Given the description of an element on the screen output the (x, y) to click on. 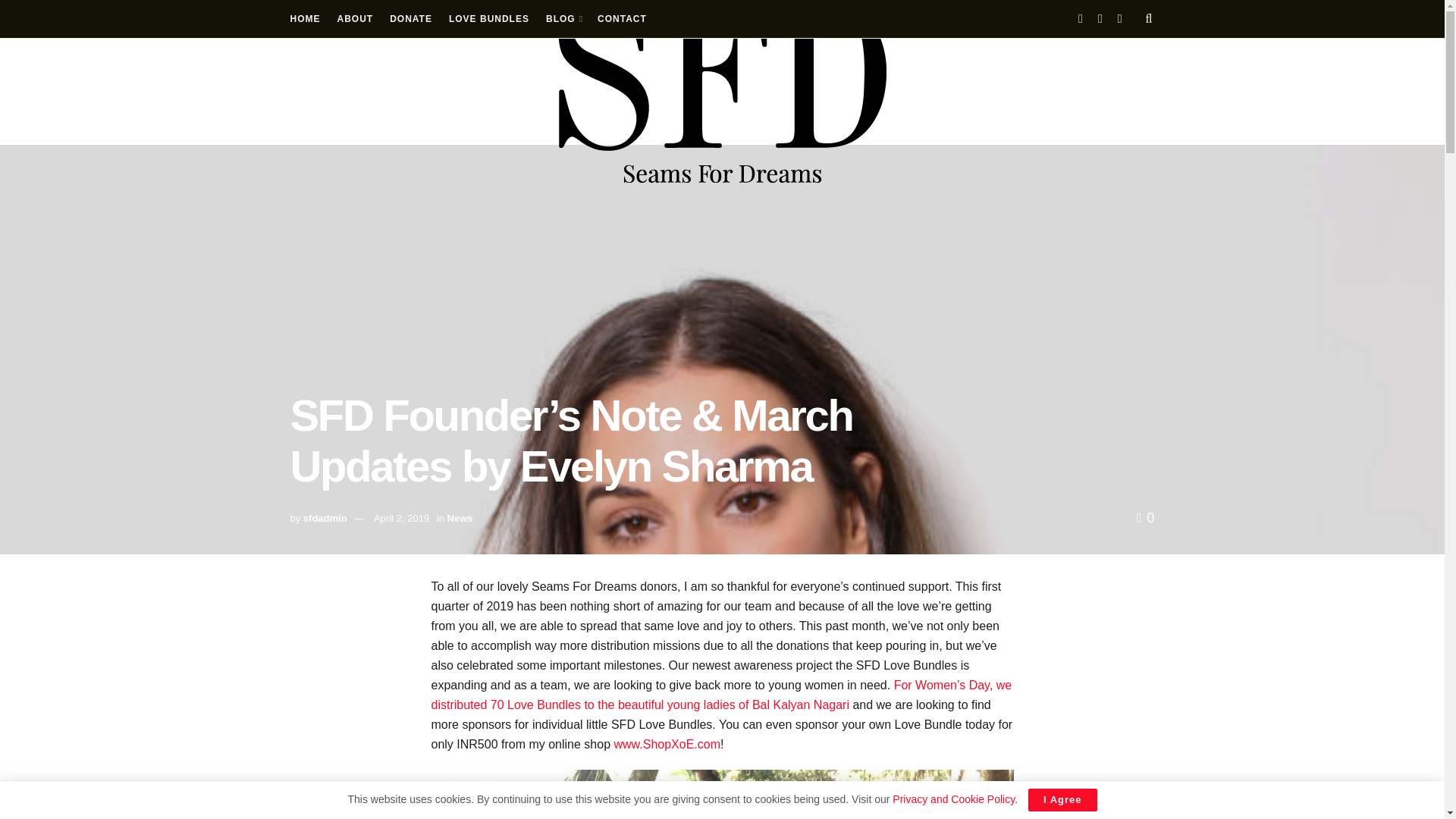
BLOG (563, 18)
DONATE (411, 18)
0 (1145, 517)
LOVE BUNDLES (488, 18)
CONTACT (621, 18)
News (459, 518)
www.ShopXoE.com (667, 744)
April 2, 2019 (401, 518)
sfdadmin (324, 518)
ABOUT (354, 18)
